Given the description of an element on the screen output the (x, y) to click on. 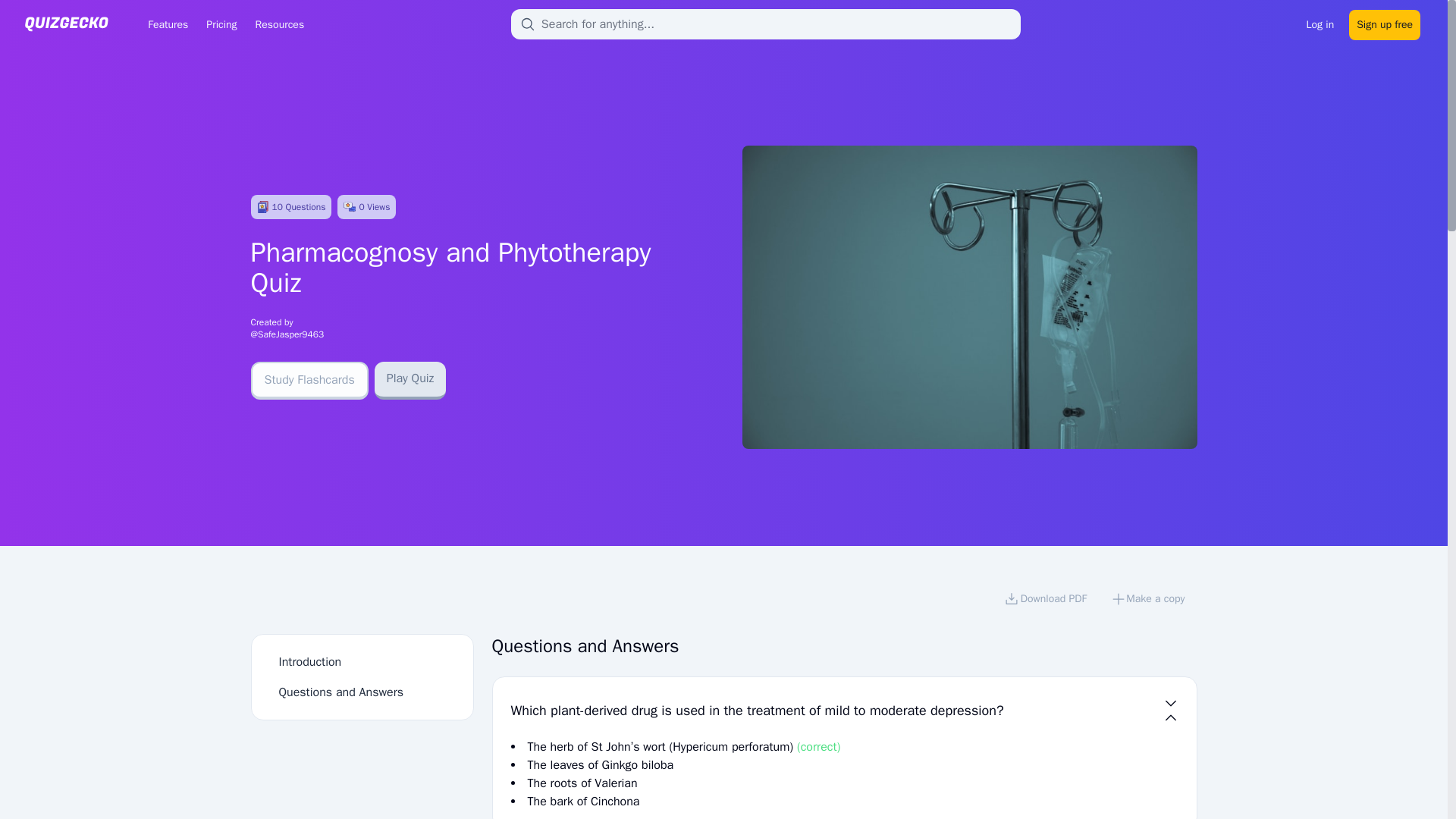
Sign up free (1384, 23)
Features (167, 23)
Play Quiz (410, 380)
Make a copy (1147, 600)
Introduction (310, 661)
Questions and Answers (341, 692)
Download PDF (1045, 600)
Resources (279, 23)
Pricing (221, 23)
Study Flashcards (309, 380)
